Given the description of an element on the screen output the (x, y) to click on. 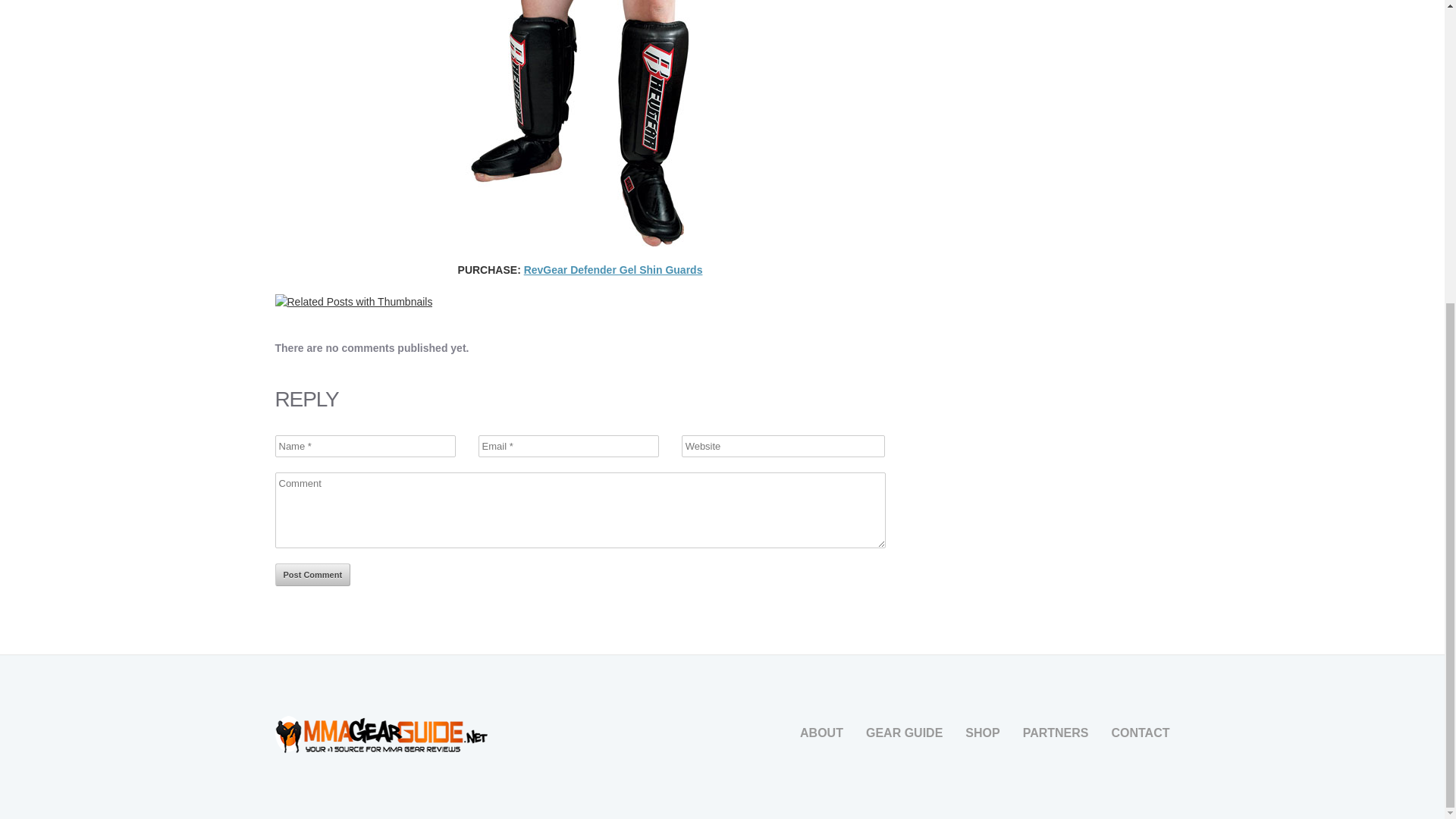
Post Comment (312, 574)
GEAR GUIDE (904, 732)
ABOUT (821, 732)
Post Comment (312, 574)
revgear-defender-gel-shin-guards (579, 123)
RevGear Defender Gel Shin Guards (613, 269)
SHOP (981, 732)
